Given the description of an element on the screen output the (x, y) to click on. 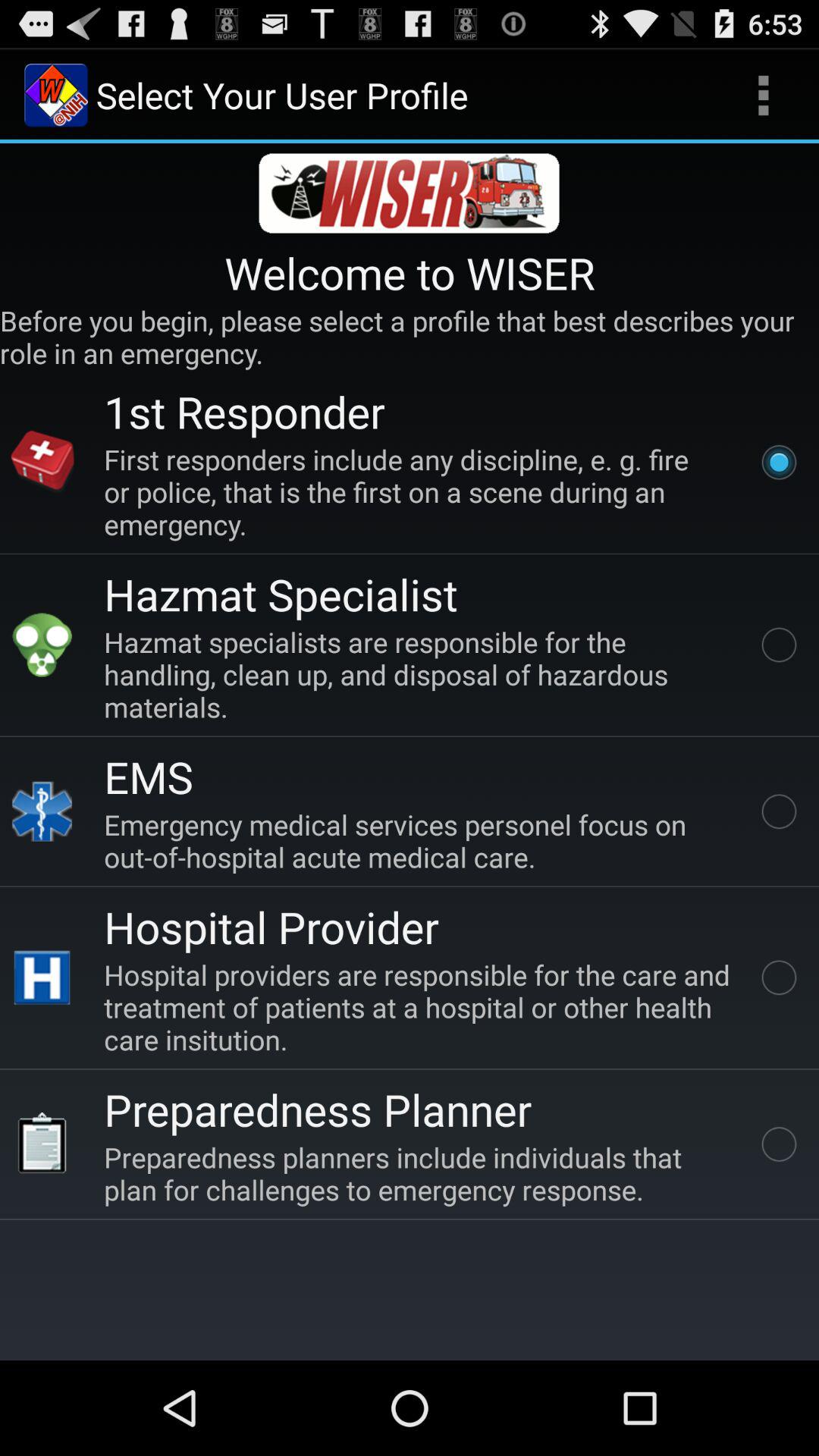
flip to hazmat specialists are app (420, 674)
